Given the description of an element on the screen output the (x, y) to click on. 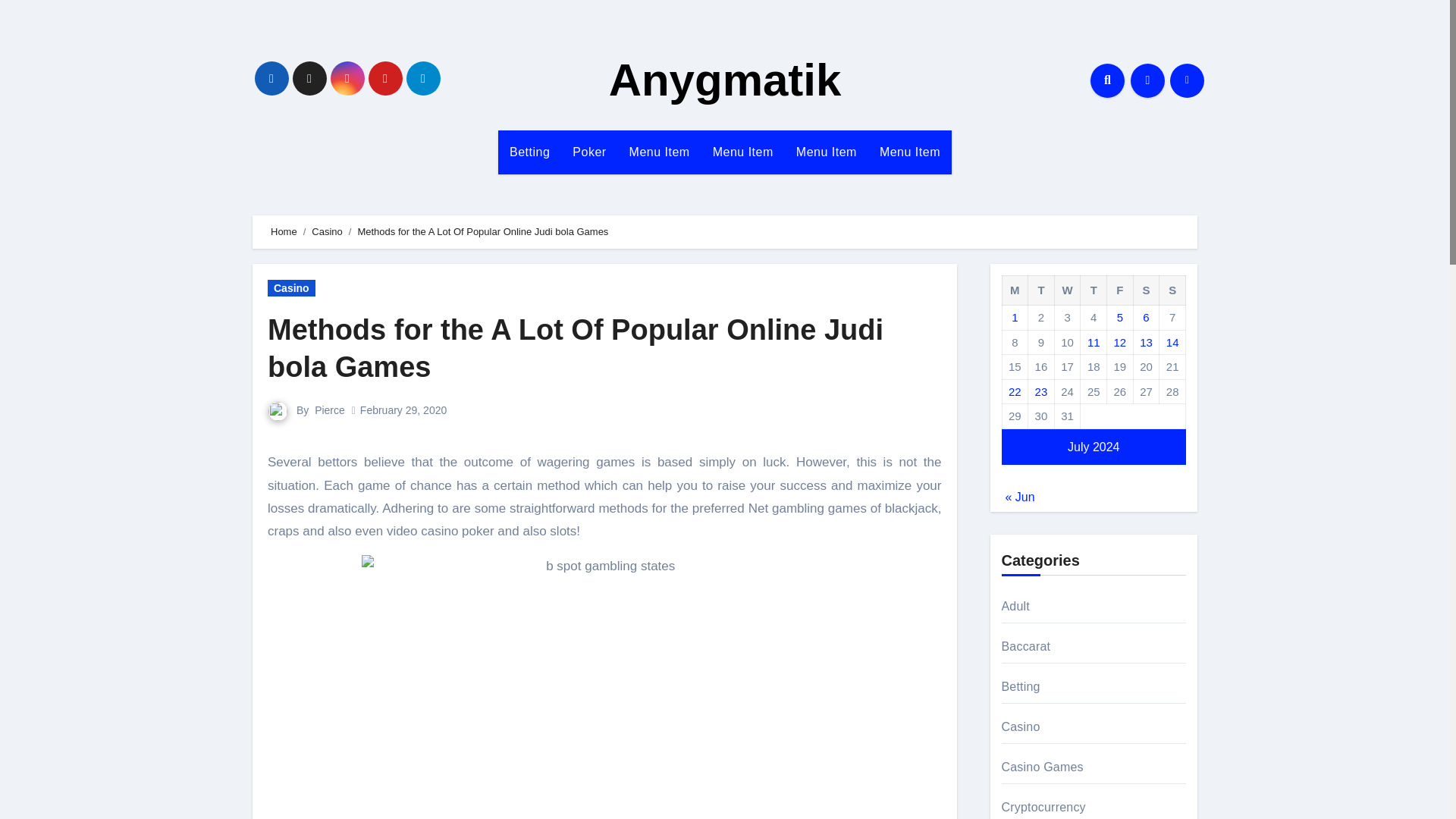
Menu Item (909, 152)
Casino (291, 288)
Pierce (329, 410)
Betting (528, 152)
Home (283, 231)
Menu Item (659, 152)
Menu Item (742, 152)
Casino (326, 231)
Betting (528, 152)
Menu Item (825, 152)
Poker (588, 152)
Menu Item (909, 152)
Menu Item (742, 152)
Menu Item (659, 152)
